Given the description of an element on the screen output the (x, y) to click on. 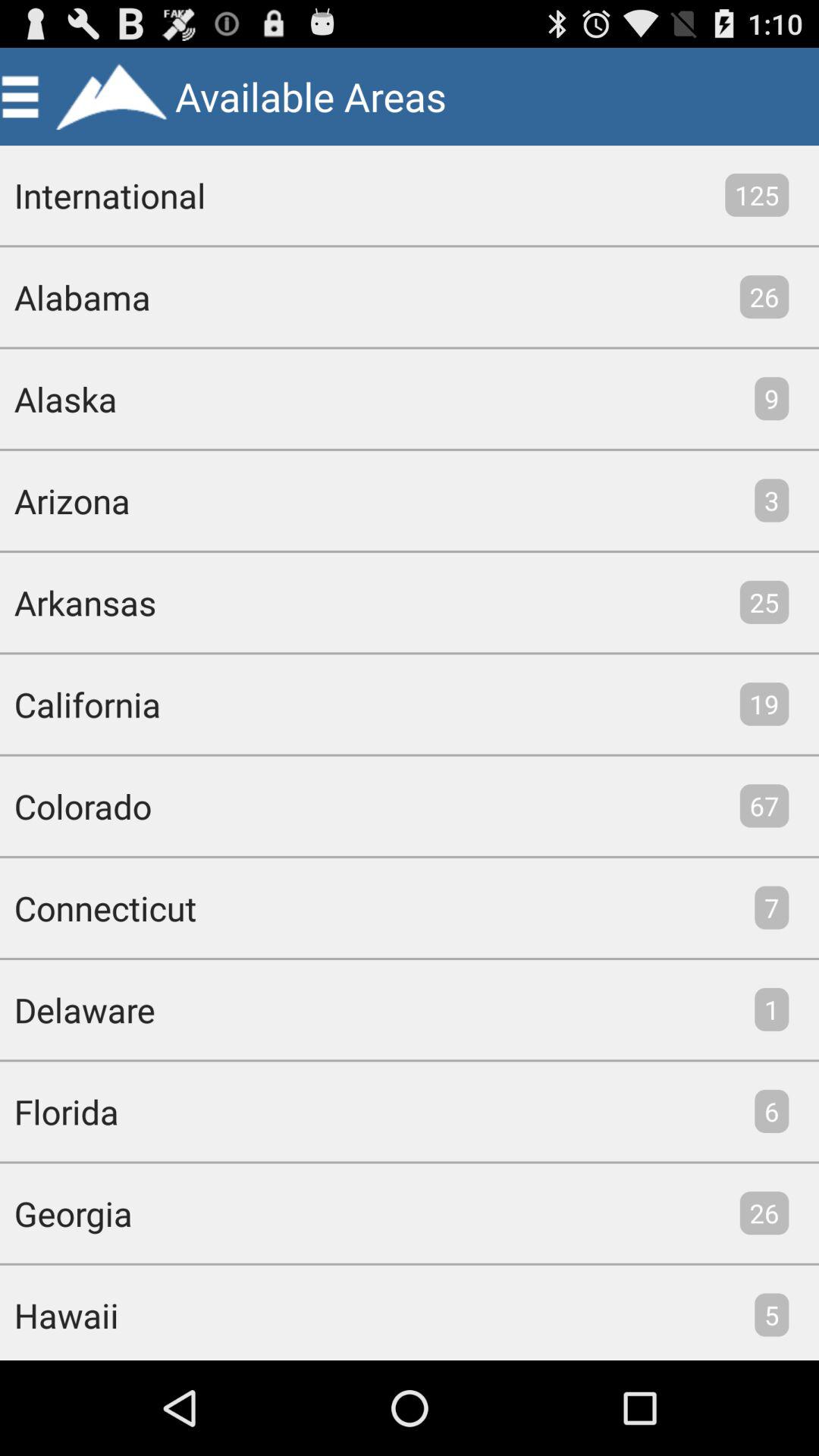
click icon below the california item (75, 805)
